Given the description of an element on the screen output the (x, y) to click on. 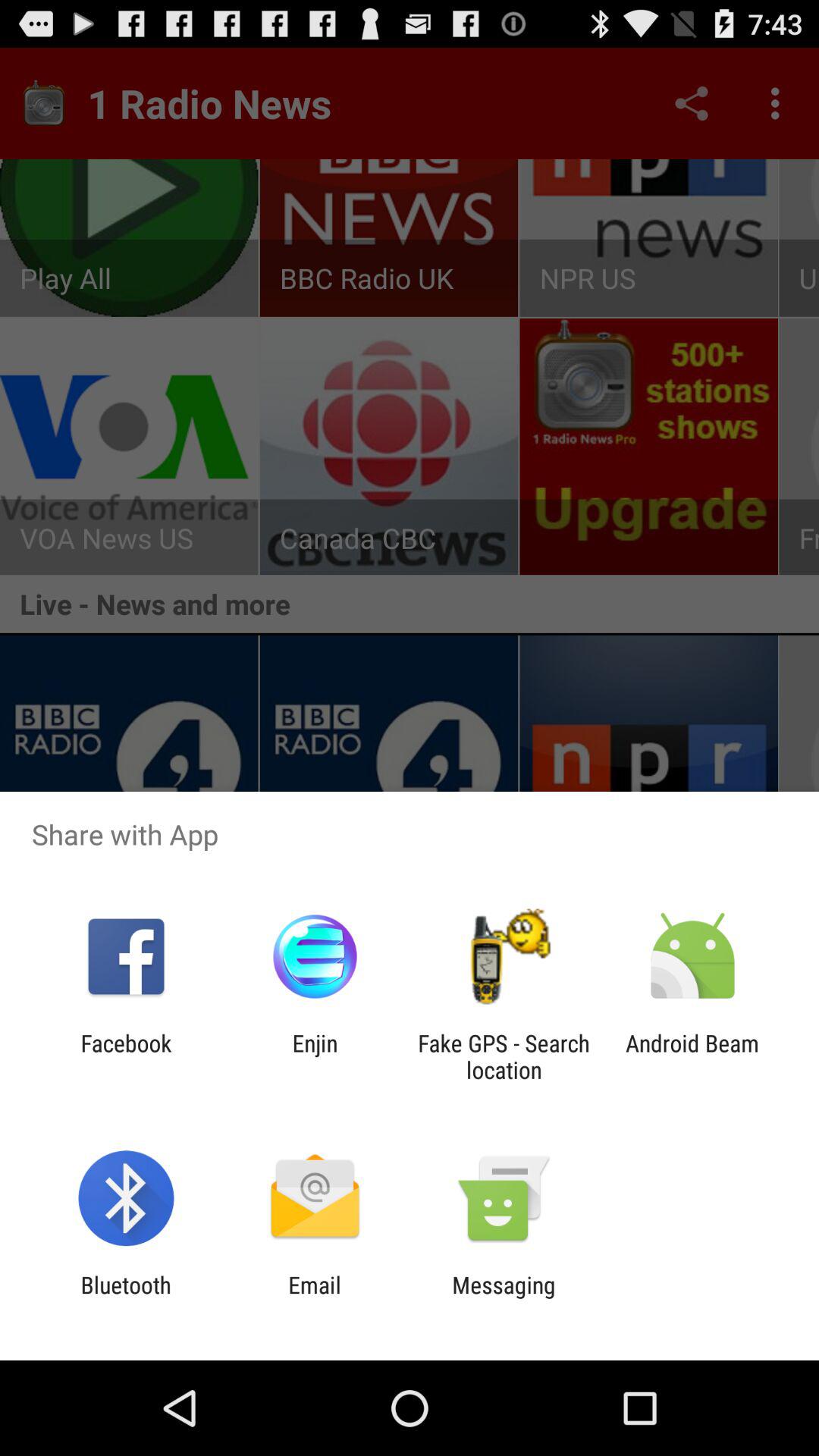
launch icon to the right of the fake gps search icon (692, 1056)
